Given the description of an element on the screen output the (x, y) to click on. 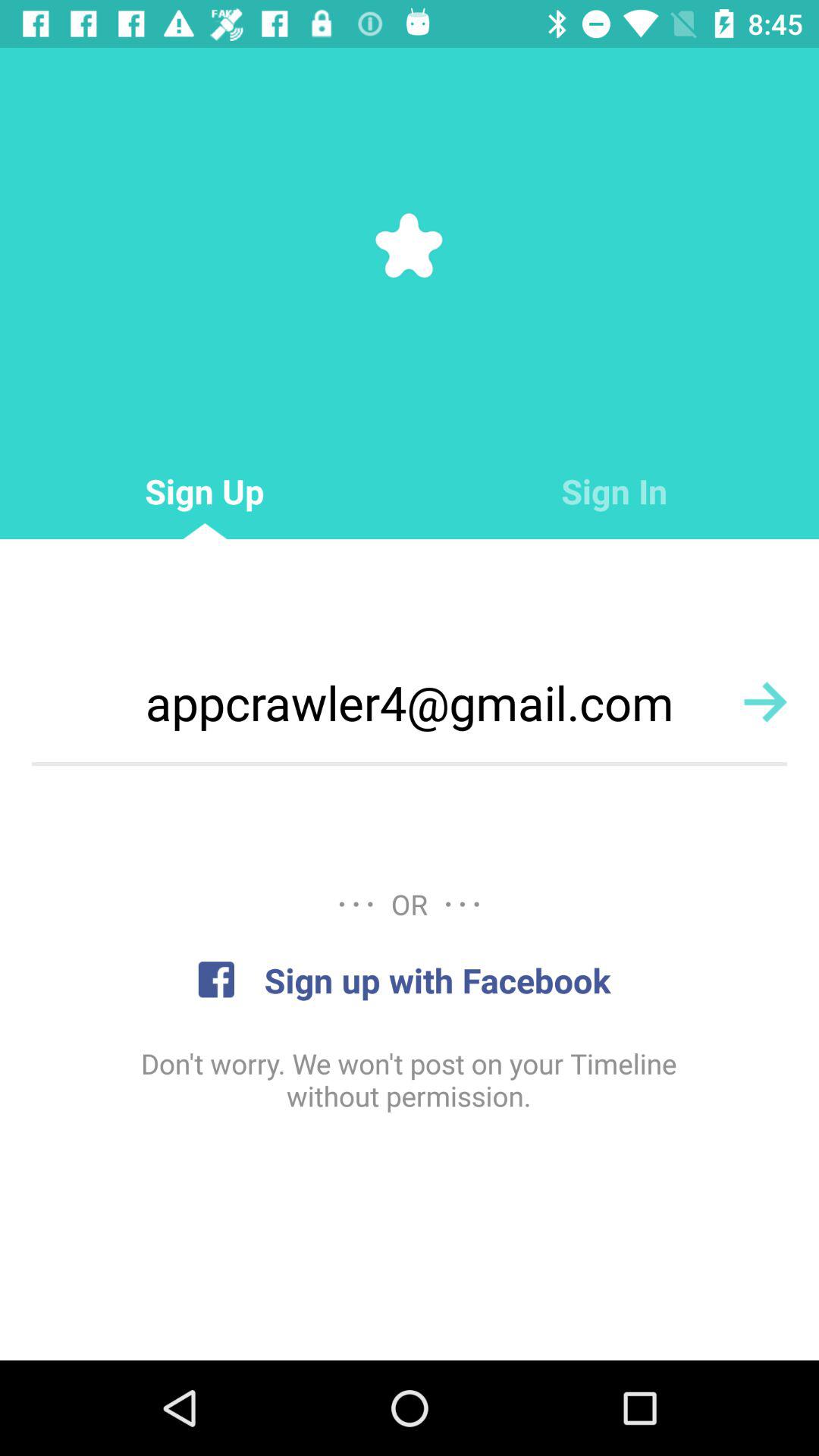
launch the icon below the sign up (409, 702)
